Given the description of an element on the screen output the (x, y) to click on. 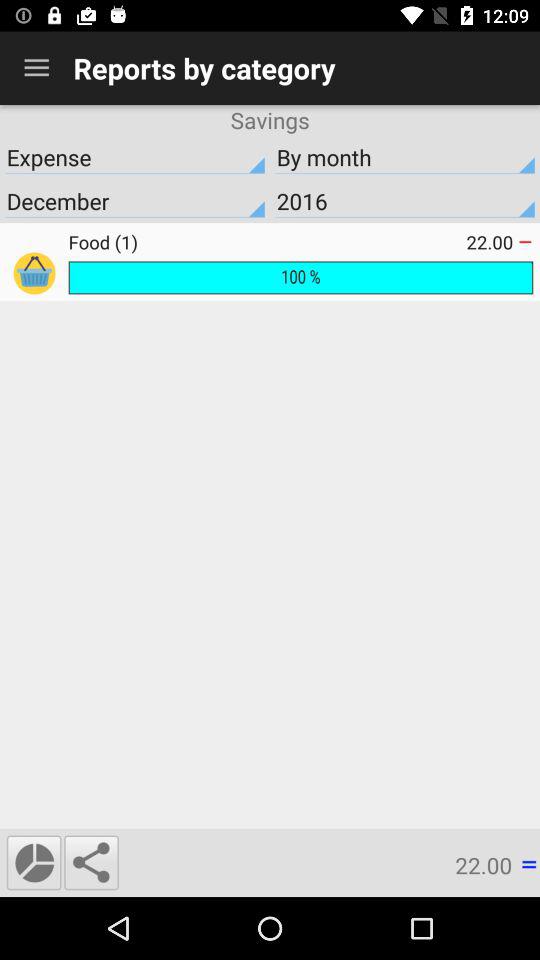
click the icon next to the reports by category item (36, 68)
